Given the description of an element on the screen output the (x, y) to click on. 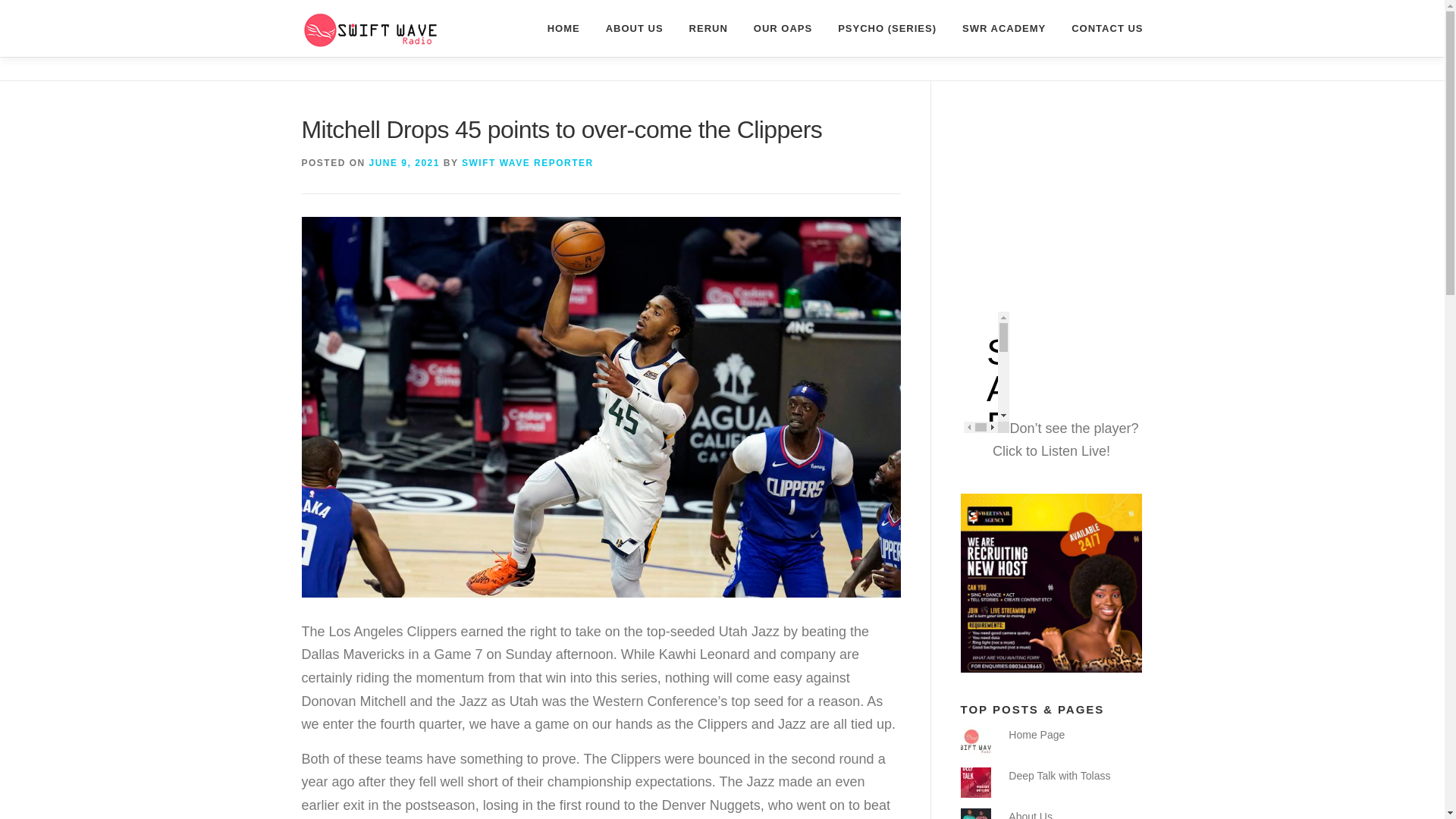
JUNE 9, 2021 (404, 163)
About Us (1030, 814)
OUR OAPS (783, 28)
Home Page (1036, 734)
CONTACT US (1100, 28)
HOME (563, 28)
RERUN (709, 28)
Home Page (1036, 734)
Deep Talk with Tolass (1059, 775)
Deep Talk with Tolass (1059, 775)
